Given the description of an element on the screen output the (x, y) to click on. 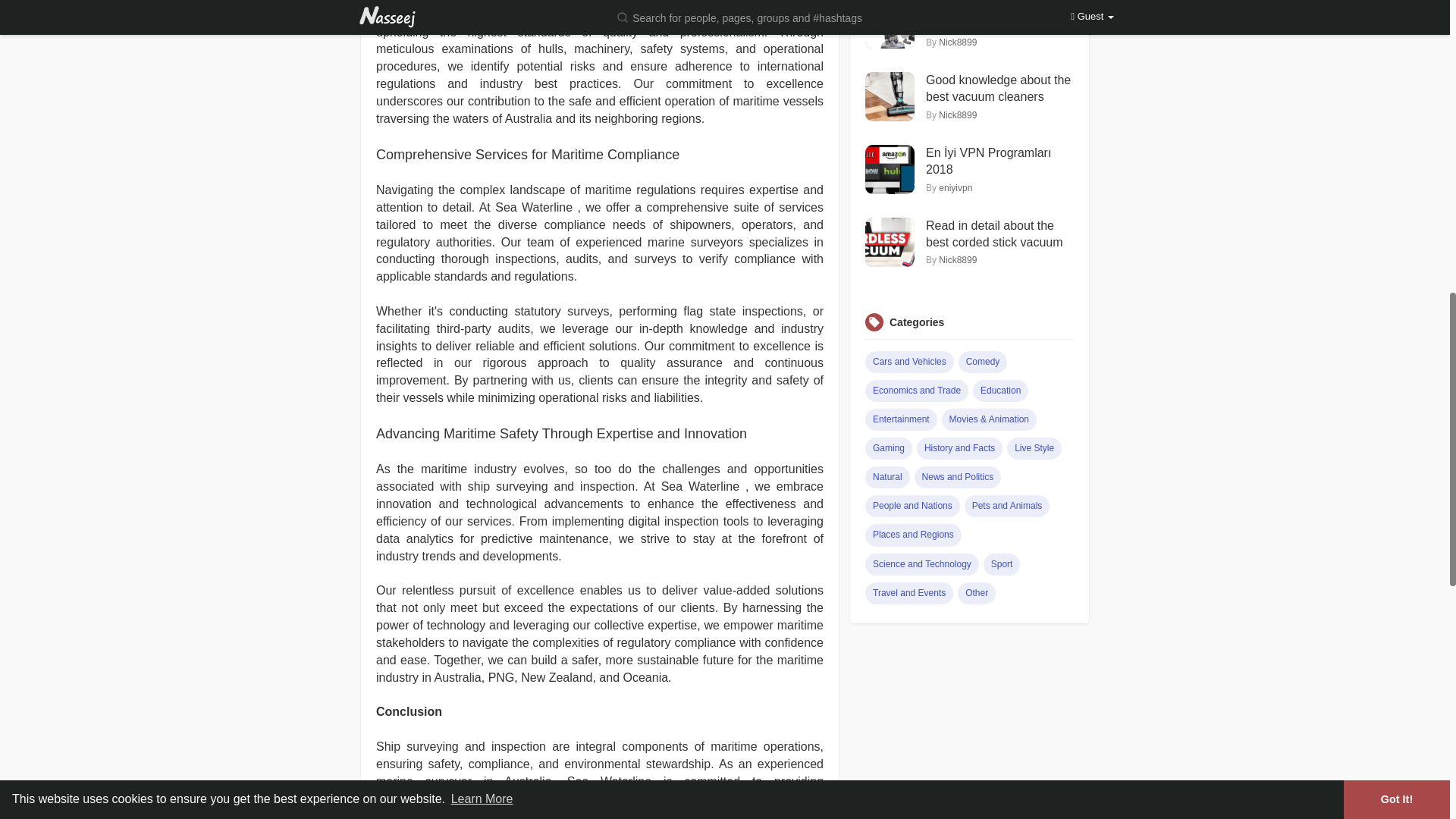
Nick8899 (957, 114)
Nick8899 (957, 41)
Good knowledge about the best vacuum cleaners (1000, 89)
What are the list of the best vacuum cleaners (1000, 16)
